Given the description of an element on the screen output the (x, y) to click on. 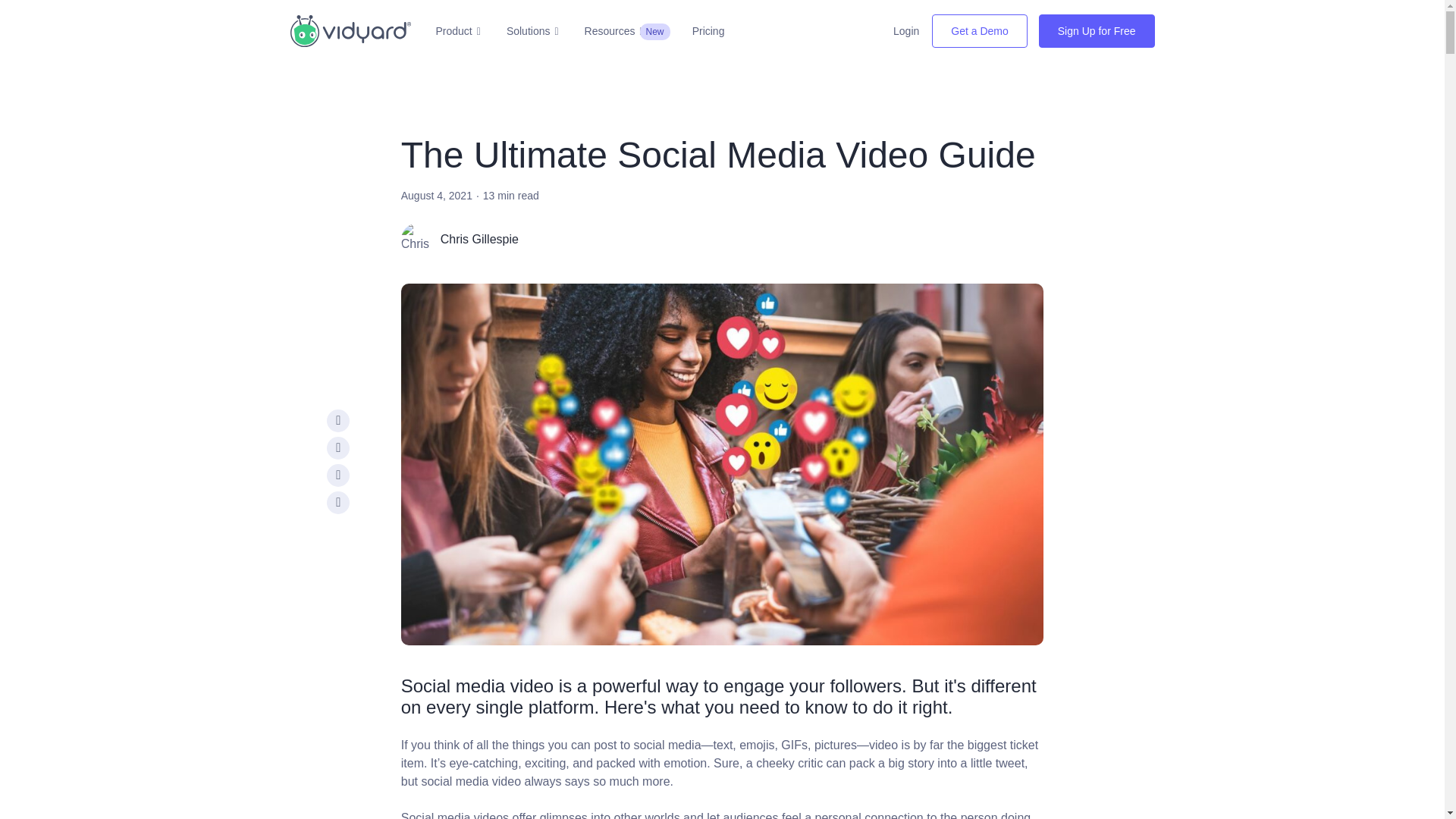
Share on Facebook (337, 420)
Solutions (532, 31)
Copy to Clipboard (337, 502)
Product (458, 31)
Resources (614, 31)
Share on Twitter (337, 447)
Share on LinkedIn (337, 475)
